Given the description of an element on the screen output the (x, y) to click on. 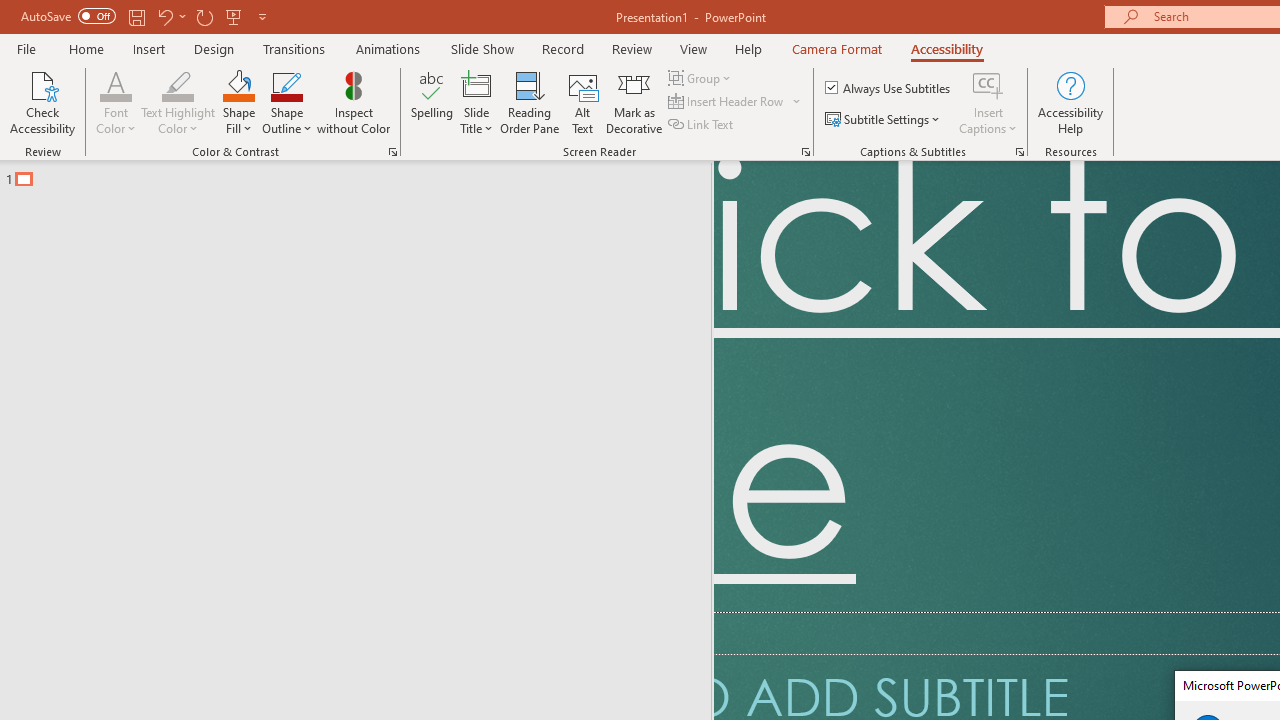
Spelling... (432, 102)
Link Text (702, 124)
Reading Order Pane (529, 102)
Inspect without Color (353, 102)
Group (701, 78)
Mark as Decorative (634, 102)
